Given the description of an element on the screen output the (x, y) to click on. 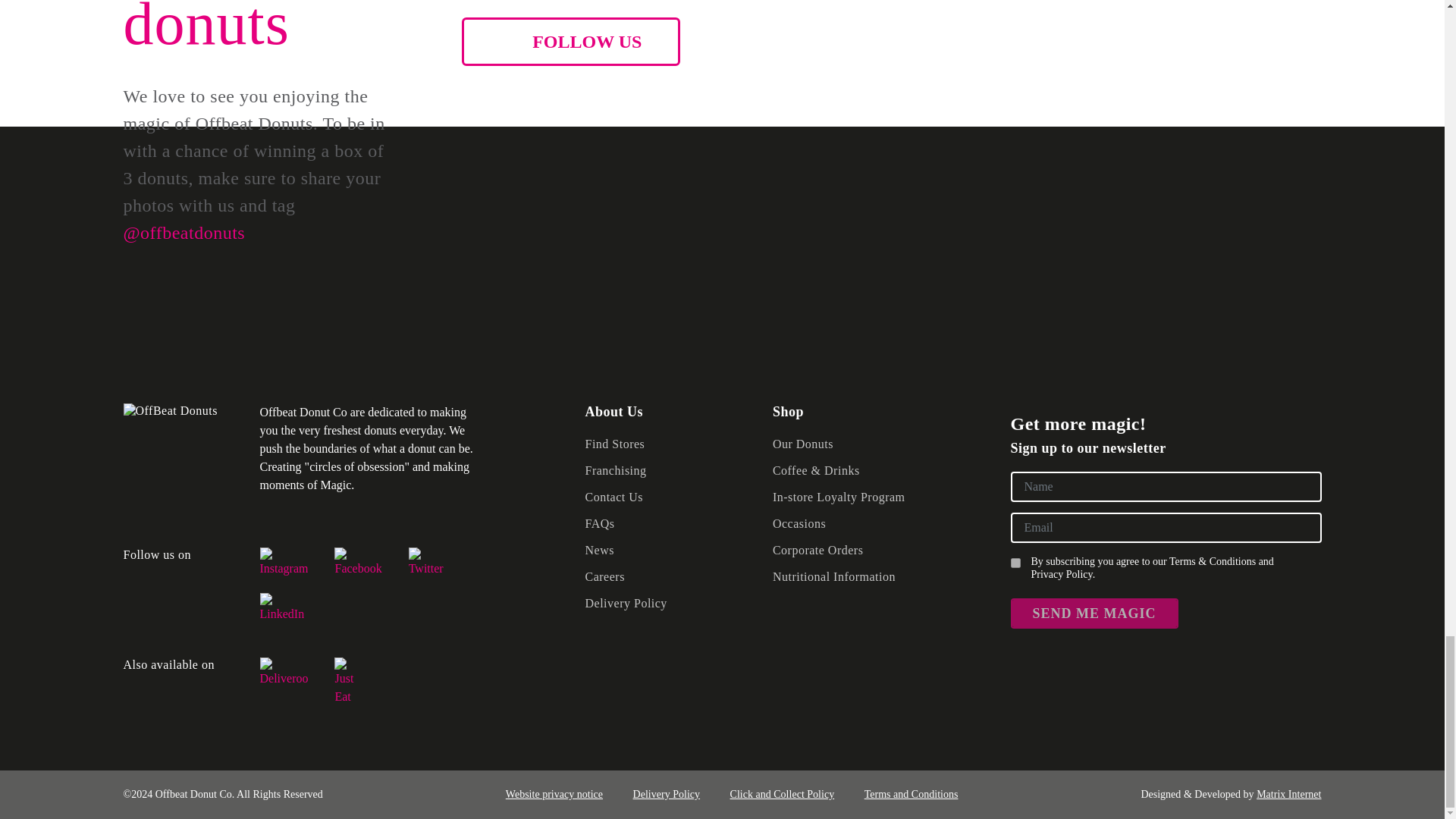
FOLLOW US (570, 41)
Send me magic (1093, 613)
